Given the description of an element on the screen output the (x, y) to click on. 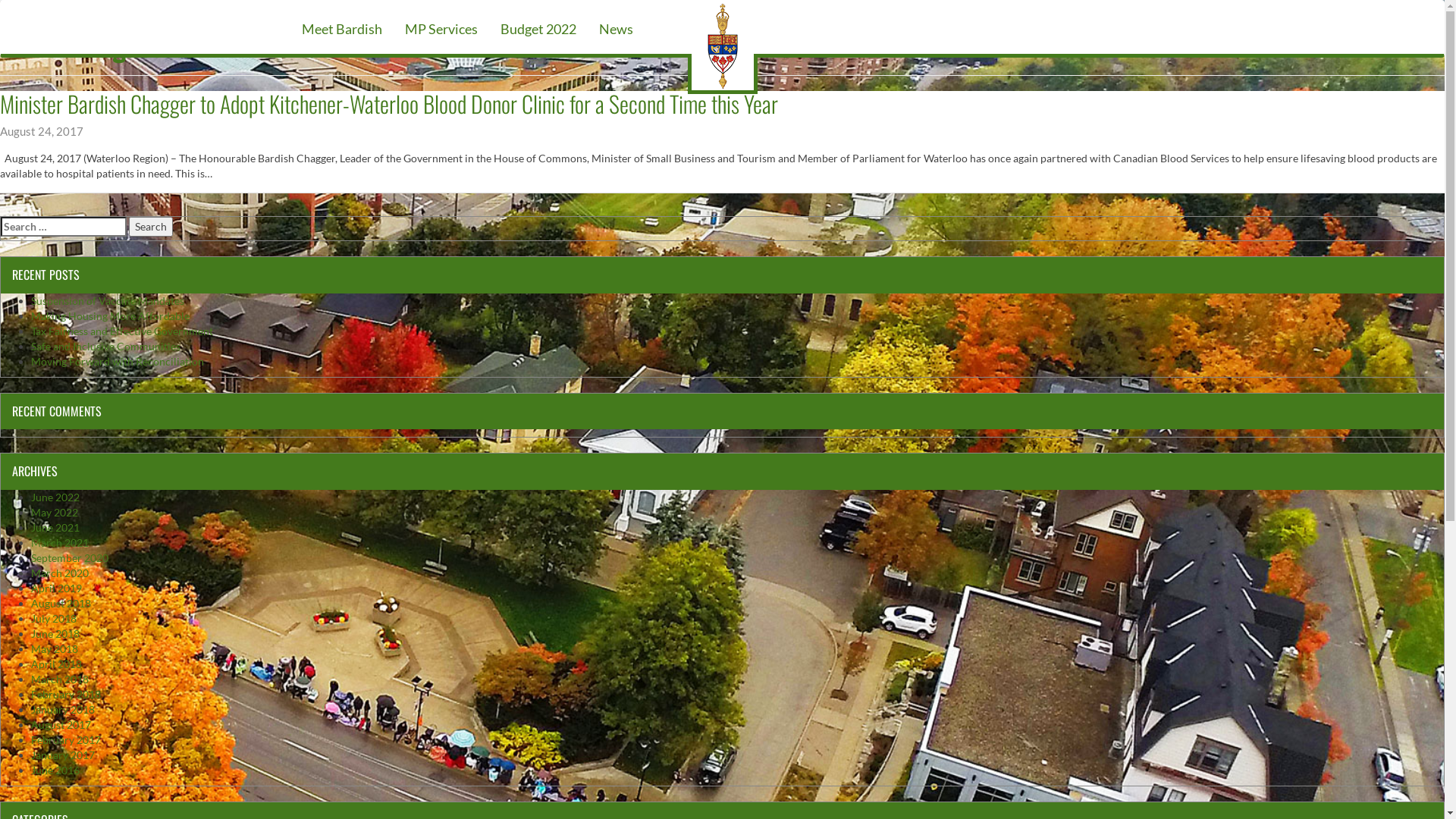
January 2017 Element type: text (62, 754)
August 24, 2017 Element type: text (41, 131)
July 2018 Element type: text (53, 617)
March 2018 Element type: text (59, 678)
Making Housing More Affordable Element type: text (110, 315)
August 2018 Element type: text (61, 602)
February 2017 Element type: text (65, 739)
Moving Forward with Reconciliation Element type: text (117, 360)
News Element type: text (616, 26)
June 2016 Element type: text (55, 769)
Safe and Inclusive Communities Element type: text (105, 345)
Tax Fairness and Effective Government Element type: text (122, 330)
June 2022 Element type: text (55, 496)
March 2020 Element type: text (59, 572)
January 2018 Element type: text (62, 708)
Search Element type: text (150, 226)
May 2018 Element type: text (54, 648)
September 2020 Element type: text (69, 557)
March 2021 Element type: text (59, 542)
Budget 2022 Element type: text (538, 26)
June 2018 Element type: text (55, 633)
April 2019 Element type: text (56, 587)
April 2018 Element type: text (56, 663)
June 2021 Element type: text (55, 526)
Suspension of Vaccine Mandates Element type: text (107, 300)
February 2018 Element type: text (65, 693)
MP Services Element type: text (440, 26)
Meet Bardish Element type: text (341, 26)
August 2017 Element type: text (61, 724)
May 2022 Element type: text (54, 511)
